Given the description of an element on the screen output the (x, y) to click on. 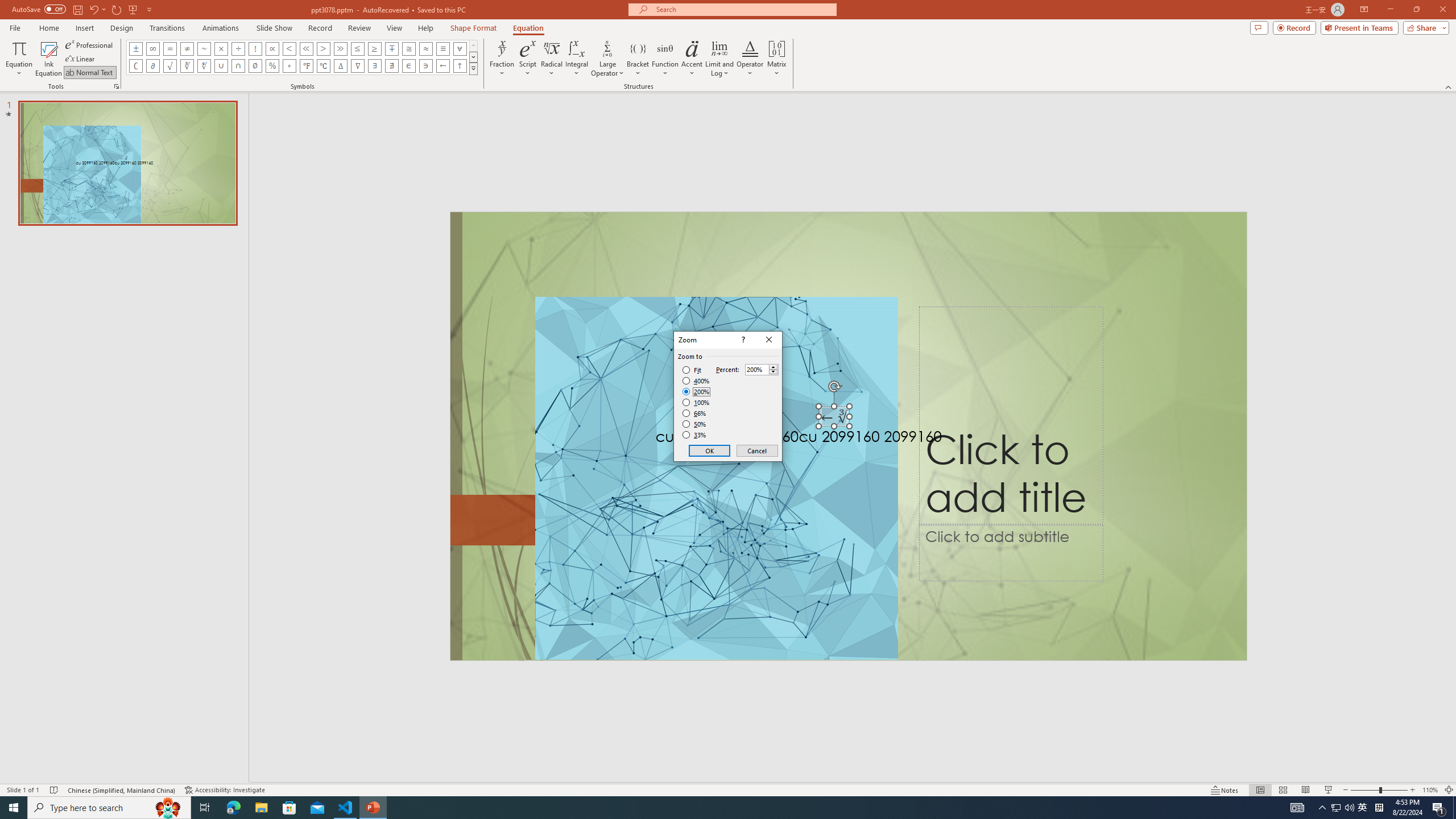
Radical (552, 58)
Professional (90, 44)
Equation Symbol Greater Than (322, 48)
Equation Symbol For All (459, 48)
Equation Symbol Element Of (408, 65)
Fit (691, 370)
33% (694, 434)
Equation Symbol There Does Not Exist (391, 65)
